Given the description of an element on the screen output the (x, y) to click on. 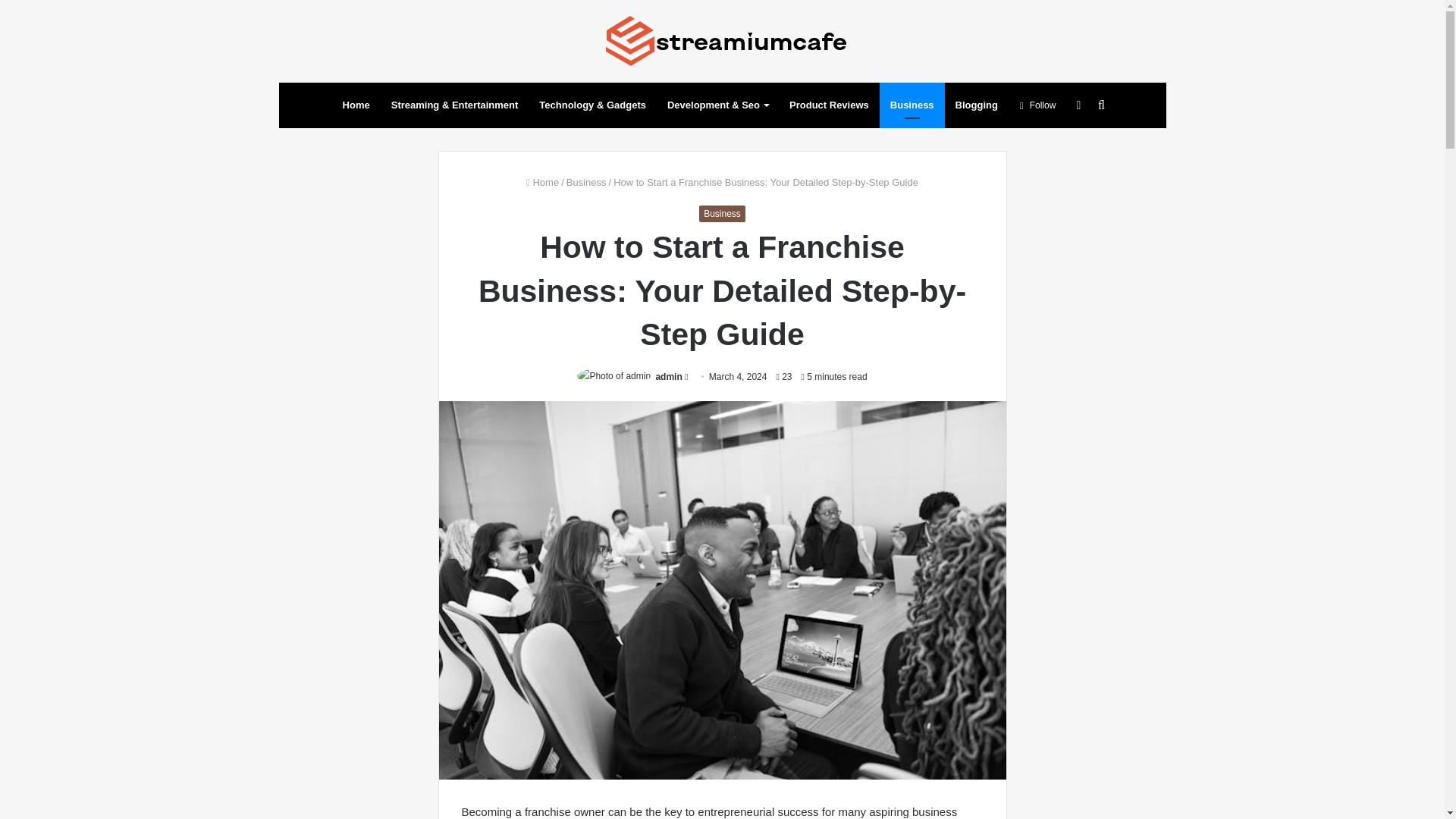
Business (586, 182)
Home (355, 104)
Search for (1100, 104)
Blogging (976, 104)
Business (911, 104)
Streamium Cafe (722, 41)
Sidebar (1078, 104)
Business (721, 213)
Home (542, 182)
Follow (1038, 104)
admin (668, 376)
Product Reviews (828, 104)
admin (668, 376)
